Given the description of an element on the screen output the (x, y) to click on. 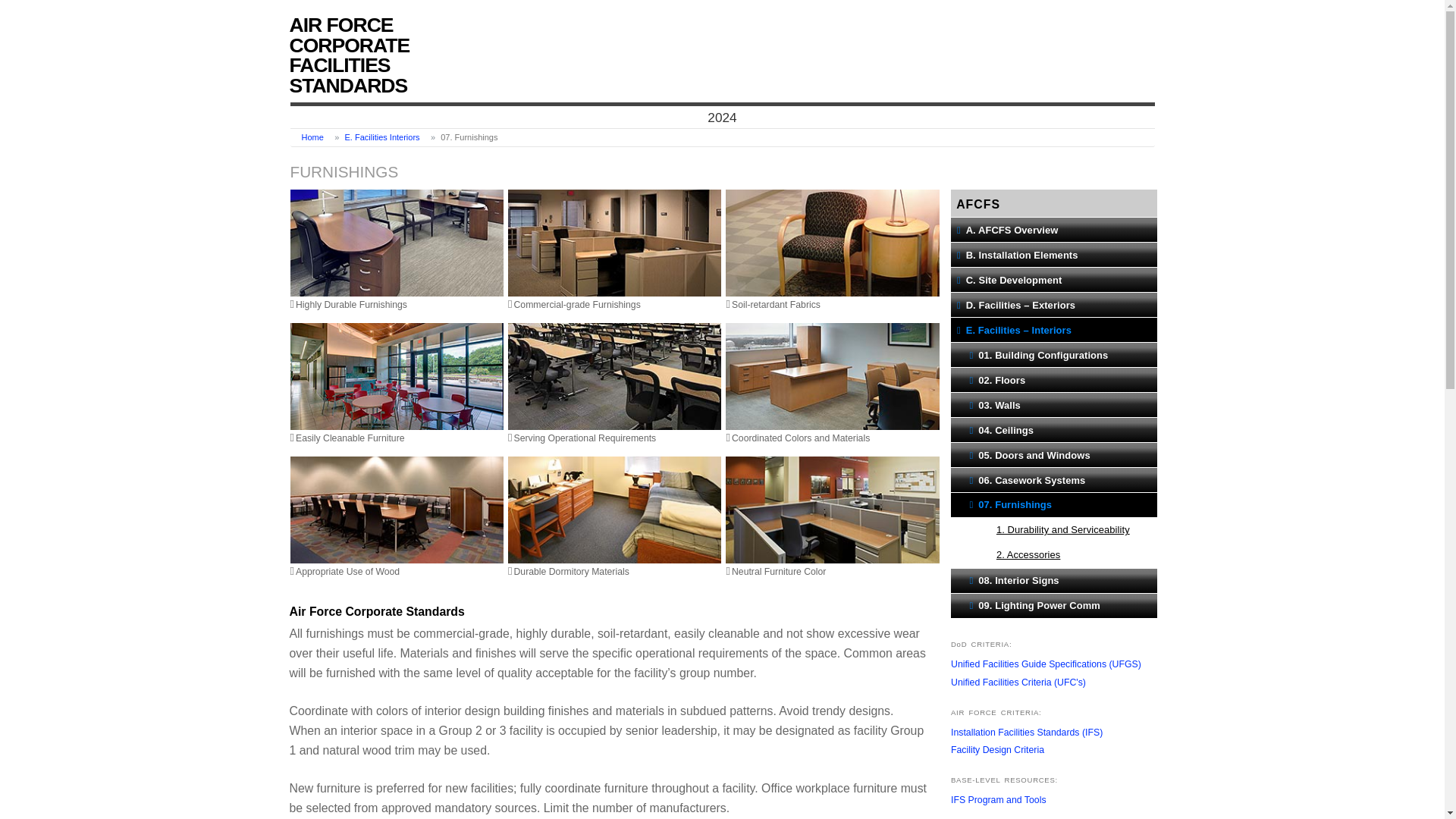
AFCFS (1053, 201)
Home (312, 136)
A. AFCFS Overview (1053, 229)
AIR FORCE CORPORATE FACILITIES STANDARDS (357, 55)
E. Facilities Interiors (382, 136)
